Given the description of an element on the screen output the (x, y) to click on. 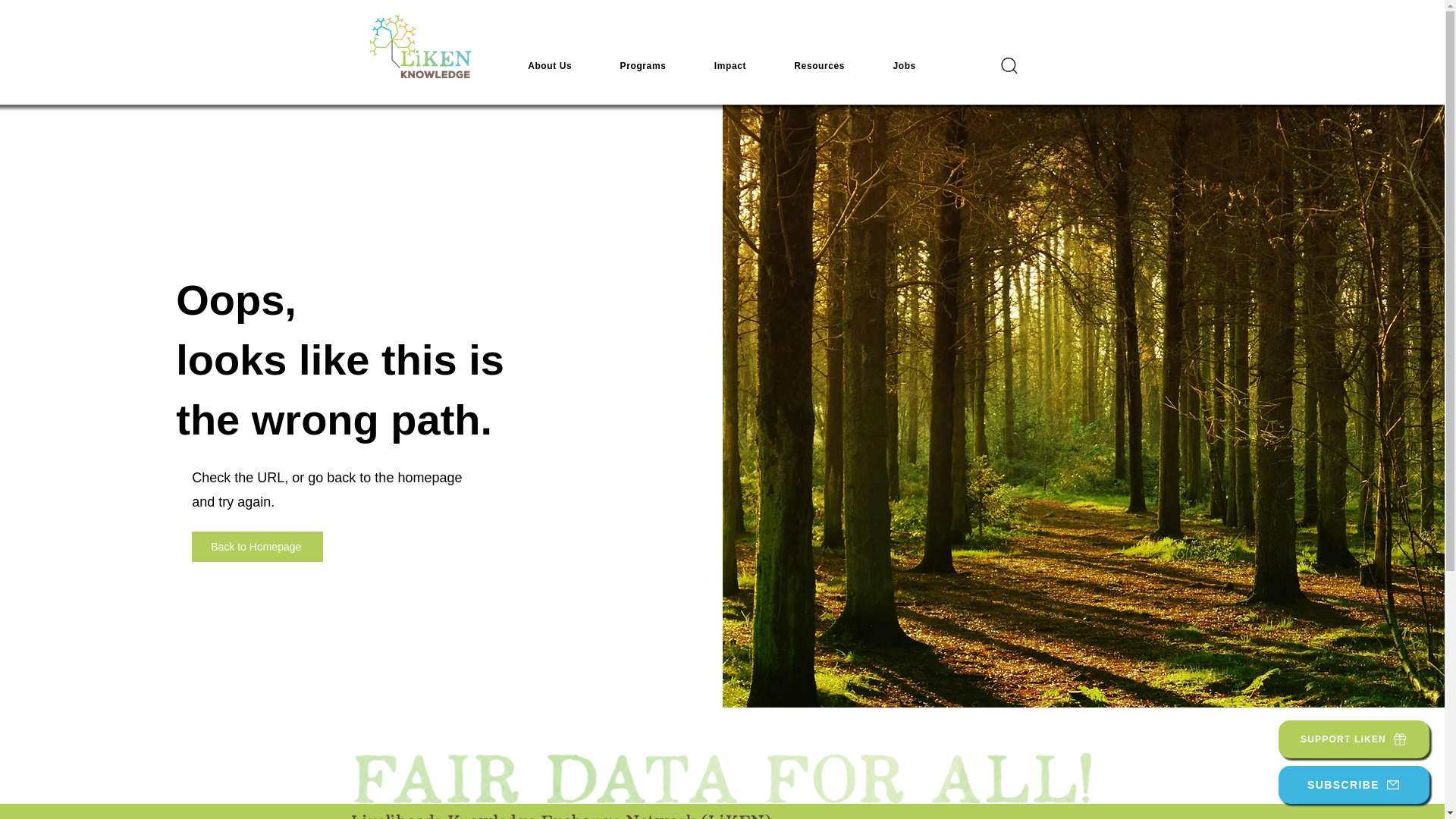
Back to Homepage (257, 546)
Jobs (904, 65)
SUPPORT LiKEN (1353, 739)
SUBSCRIBE (1353, 784)
